Given the description of an element on the screen output the (x, y) to click on. 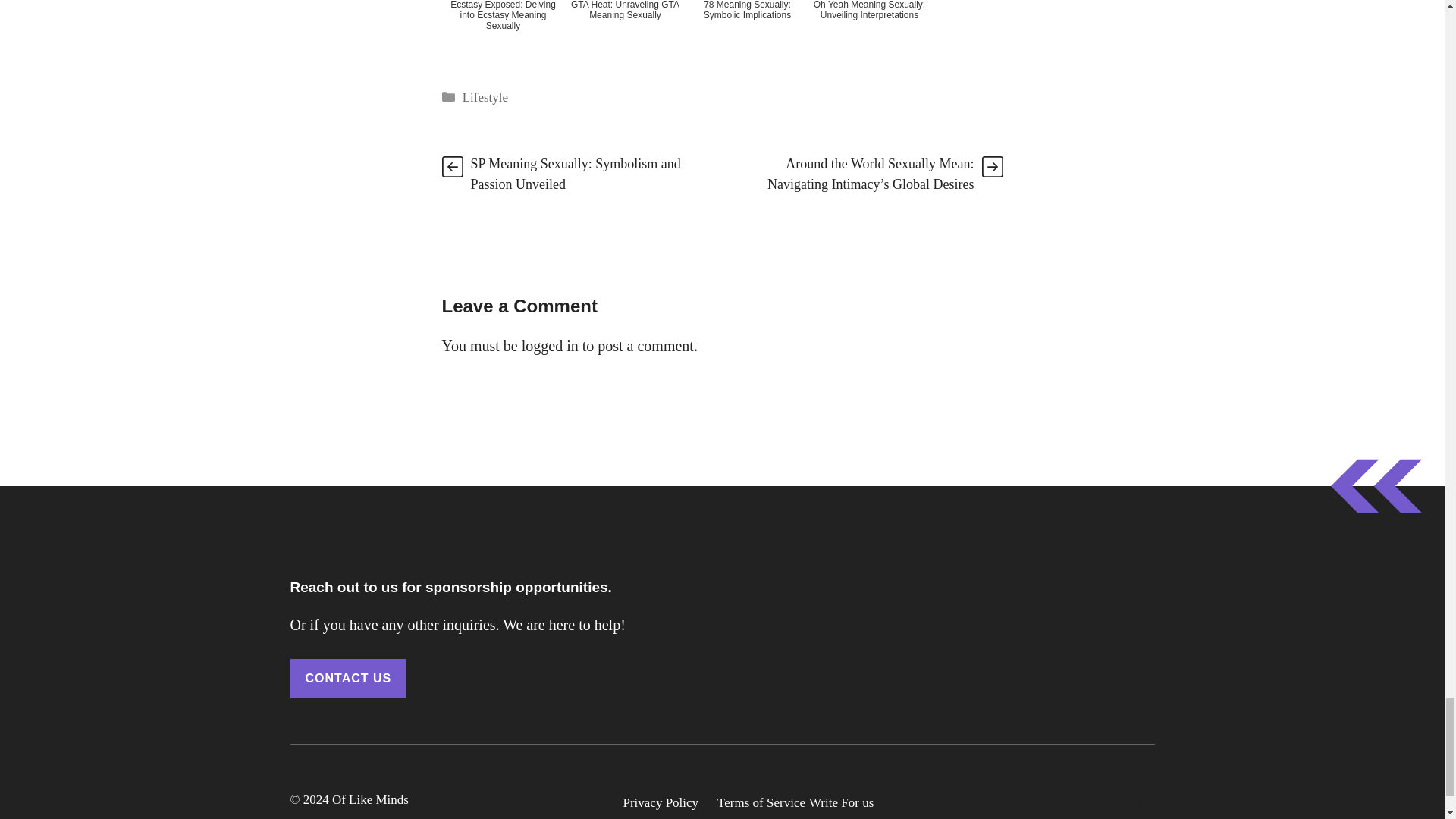
SP Meaning Sexually: Symbolism and Passion Unveiled (574, 173)
logged in (549, 345)
Lifestyle (485, 97)
GTA Heat: Unraveling GTA Meaning Sexually (625, 29)
Ecstasy Exposed: Delving into Ecstasy Meaning Sexually (502, 29)
Oh Yeah Meaning Sexually: Unveiling Interpretations (869, 29)
78 Meaning Sexually: Symbolic Implications (746, 29)
CONTACT US (347, 678)
